Given the description of an element on the screen output the (x, y) to click on. 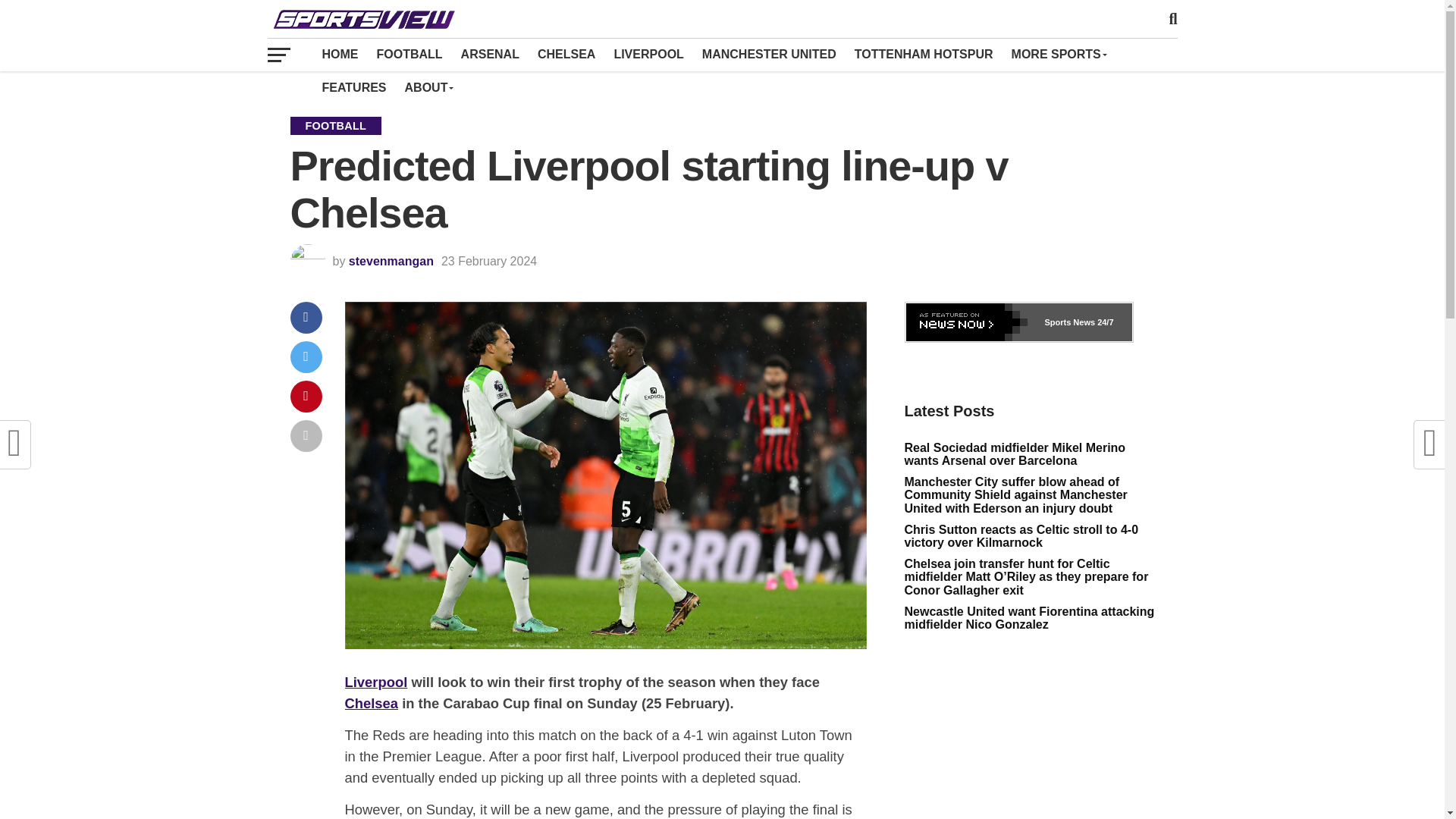
MORE SPORTS (1059, 54)
HOME (339, 54)
FOOTBALL (408, 54)
FEATURES (353, 87)
ARSENAL (489, 54)
TOTTENHAM HOTSPUR (924, 54)
Posts by stevenmangan (391, 260)
CHELSEA (566, 54)
Click here for more Arsenal news from NewsNow (1018, 322)
LIVERPOOL (648, 54)
MANCHESTER UNITED (769, 54)
